Given the description of an element on the screen output the (x, y) to click on. 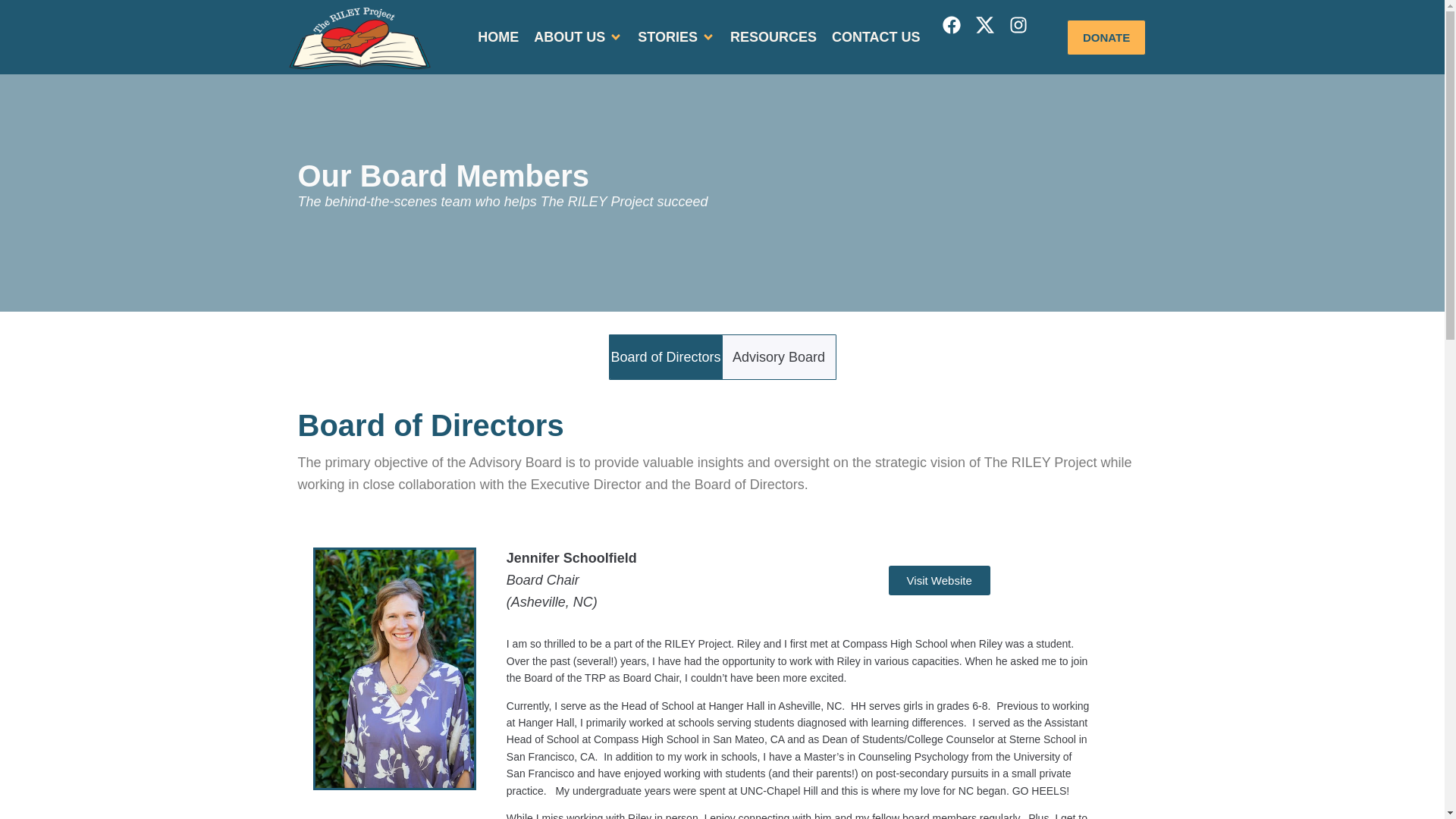
ABOUT US (569, 37)
DONATE (1106, 37)
HOME (497, 37)
RESOURCES (773, 37)
Visit Website (939, 580)
STORIES (667, 37)
CONTACT US (875, 37)
